Given the description of an element on the screen output the (x, y) to click on. 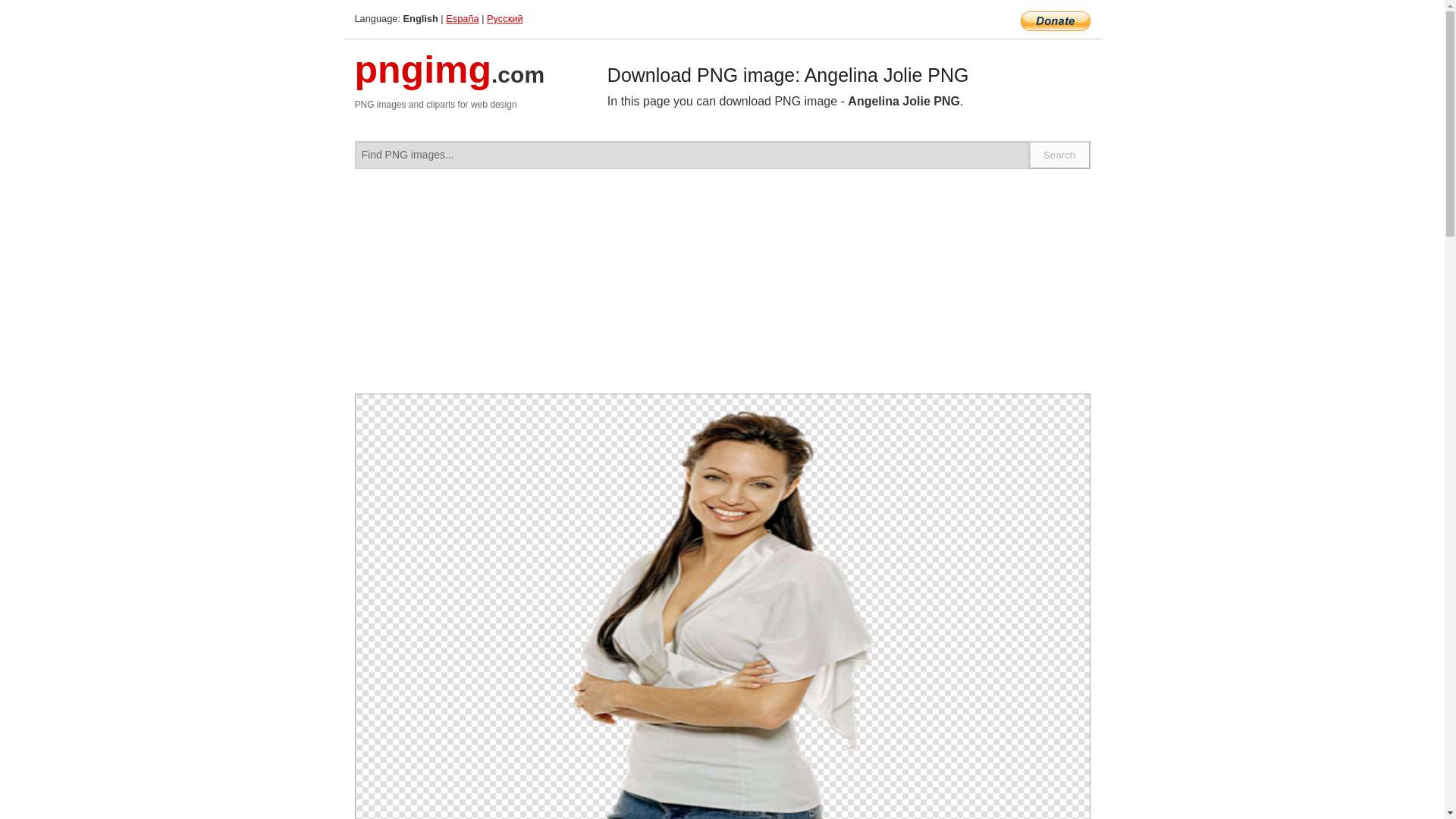
Search (1059, 154)
Search (1059, 154)
pngimg.com (449, 78)
